Given the description of an element on the screen output the (x, y) to click on. 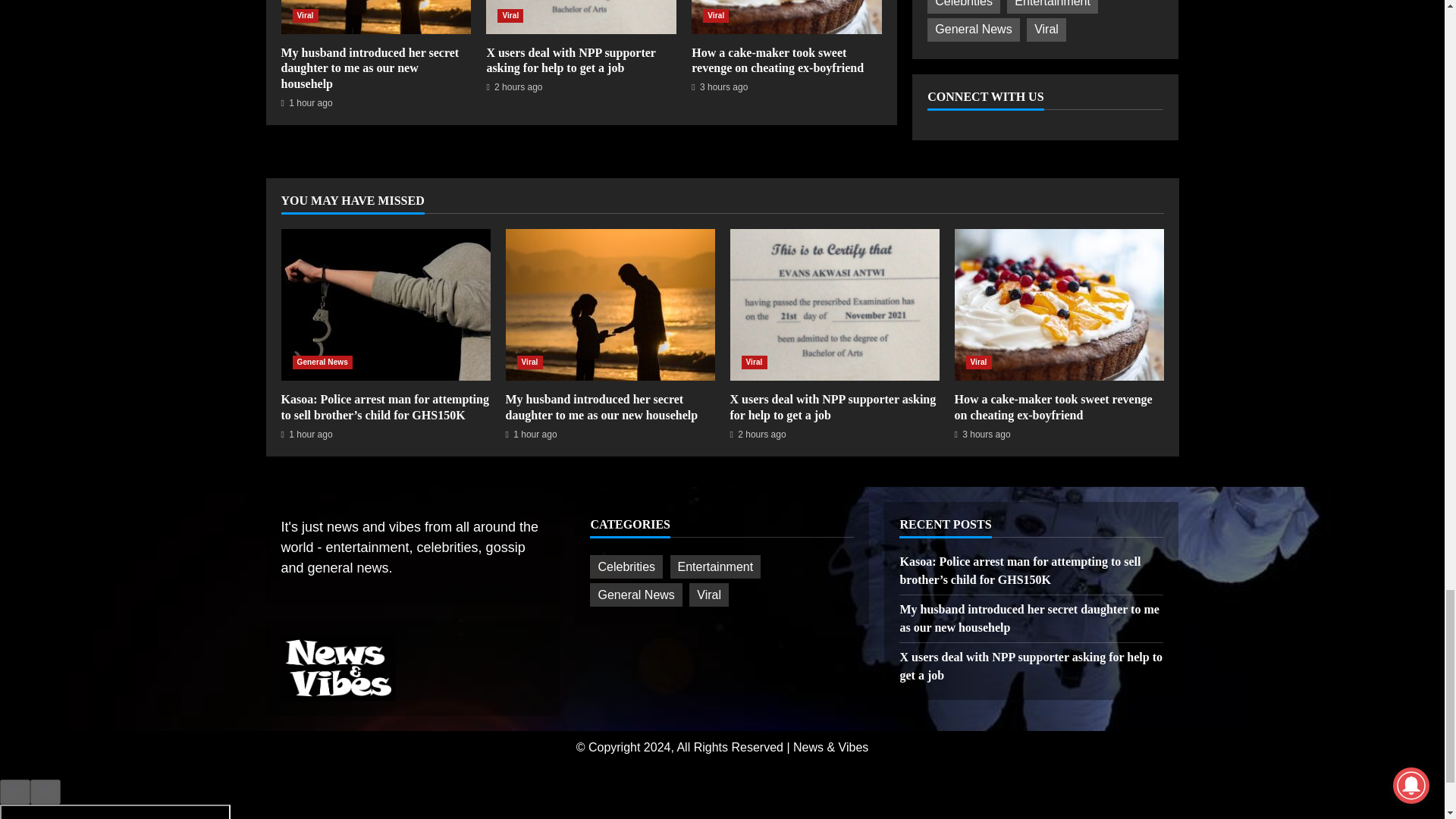
How a cake-maker took sweet revenge on cheating ex-boyfriend (786, 17)
X users deal with NPP supporter asking for help to get a job (581, 17)
Viral (716, 15)
How a cake-maker took sweet revenge on cheating ex-boyfriend (777, 60)
How a cake-maker took sweet revenge on cheating ex-boyfriend (786, 17)
X users deal with NPP supporter asking for help to get a job (581, 17)
X users deal with NPP supporter asking for help to get a job (570, 60)
Viral (509, 15)
Viral (305, 15)
